Given the description of an element on the screen output the (x, y) to click on. 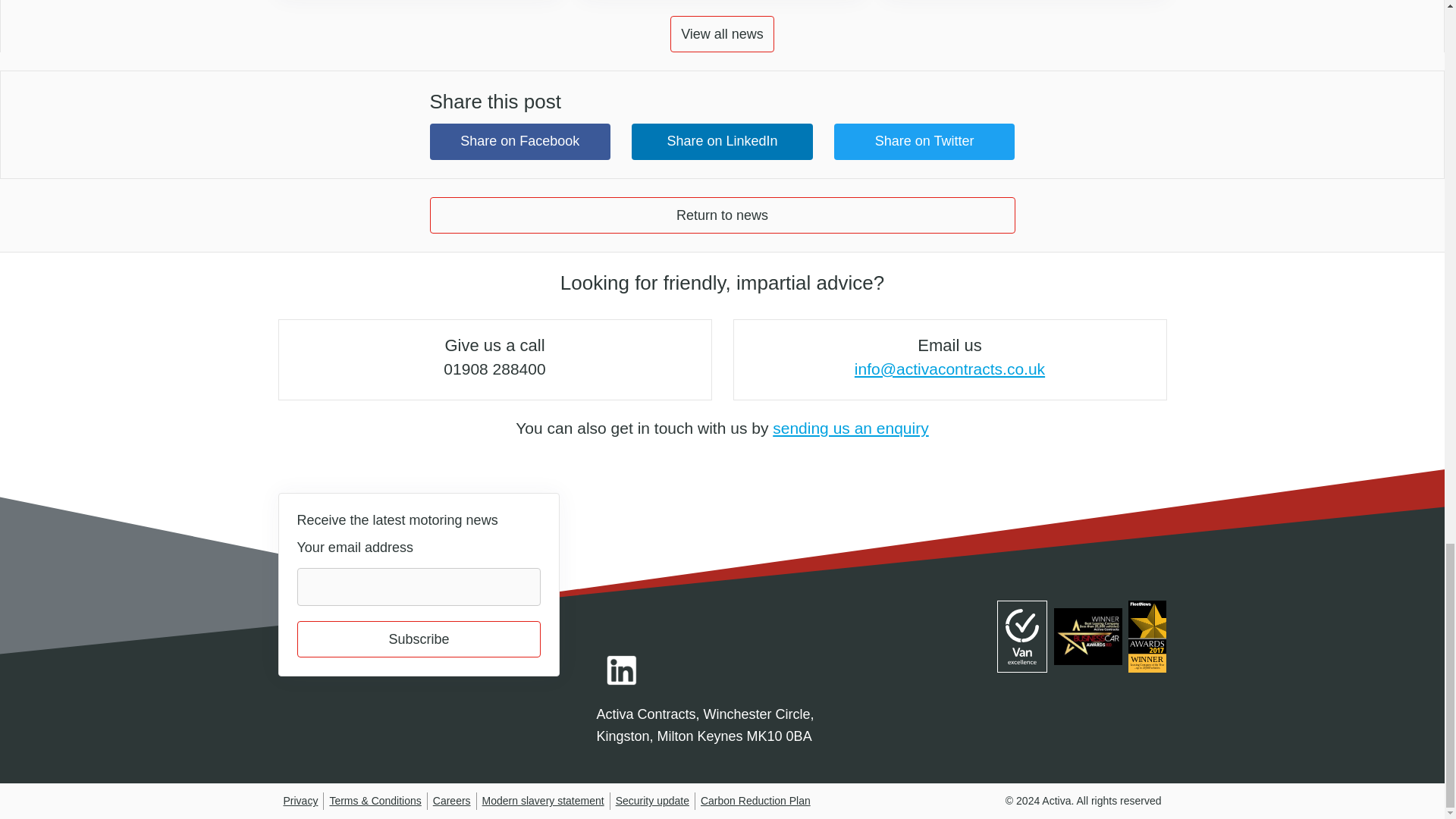
Privacy (300, 800)
Careers (451, 800)
Modern slavery statement (542, 800)
View all news (721, 33)
Share on LinkedIn (721, 141)
Share on Twitter (924, 141)
Share on Facebook (519, 141)
Subscribe (419, 638)
01908 288400 (494, 368)
sending us an enquiry (850, 427)
Return to news (721, 215)
